Given the description of an element on the screen output the (x, y) to click on. 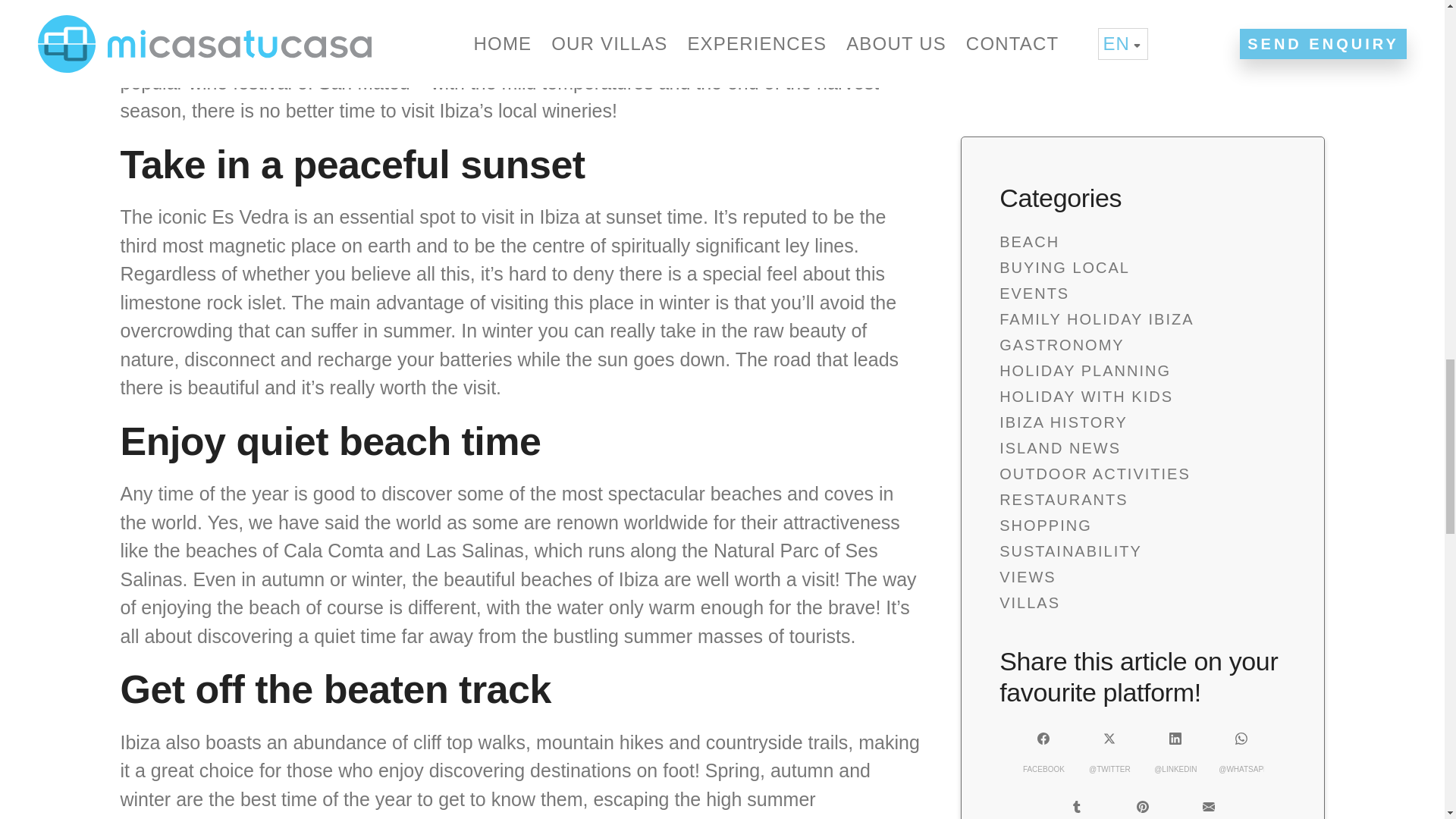
Hiking (269, 817)
Las Salinas (475, 550)
San Carlos and Santa Gertrudis (401, 53)
wine festival (240, 82)
Cala Comta (333, 550)
